Given the description of an element on the screen output the (x, y) to click on. 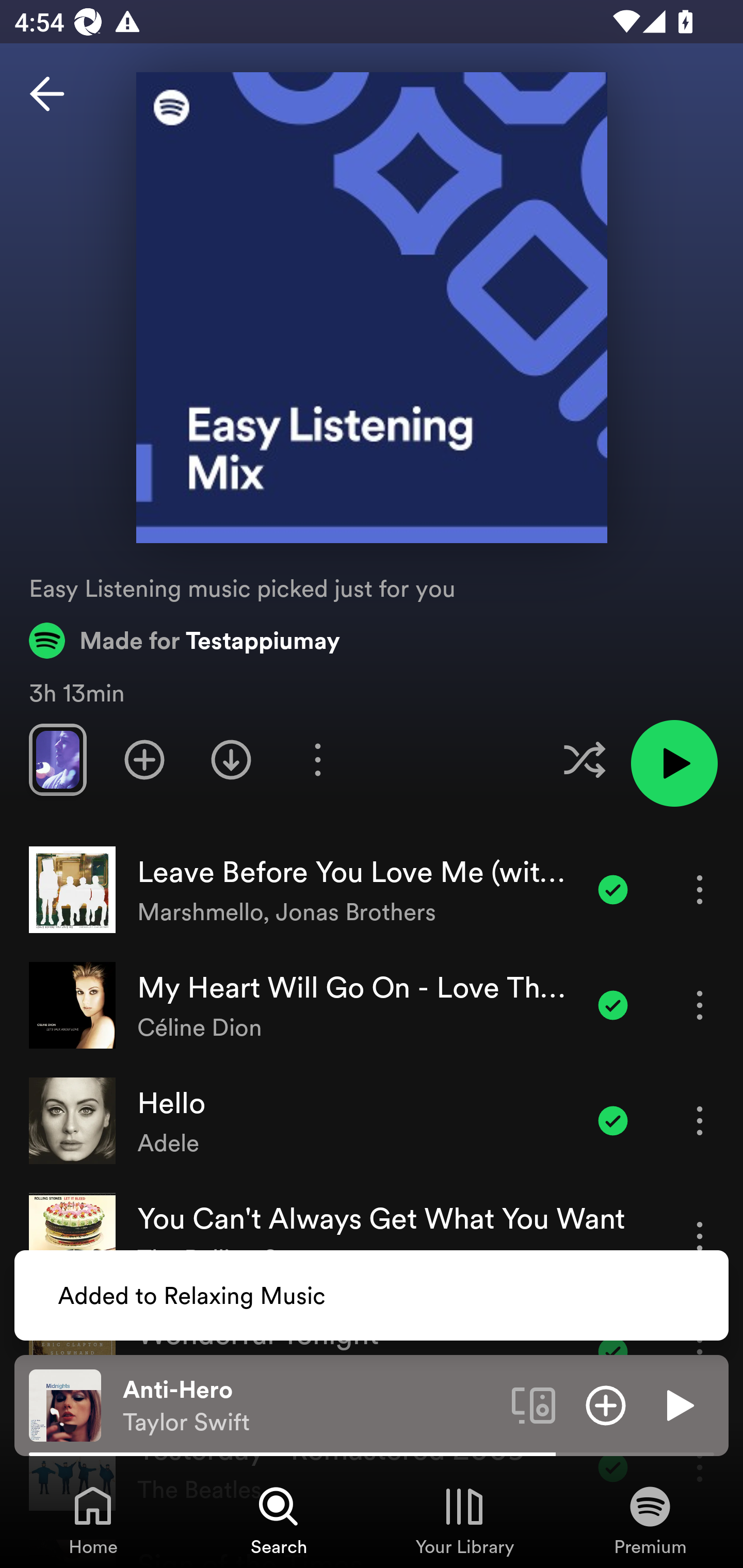
Back (46, 93)
Made for Testappiumay (184, 640)
Swipe through previews of tracks in this playlist. (57, 759)
Add playlist to Your Library (144, 759)
Download (230, 759)
More options for playlist Easy Listening Mix (317, 759)
Enable shuffle for this playlist (583, 759)
Play playlist (674, 763)
Item added (612, 889)
Item added (612, 1004)
Hello Adele Item added More options for song Hello (371, 1121)
Item added (612, 1120)
More options for song Hello (699, 1120)
Anti-Hero Taylor Swift (309, 1405)
The cover art of the currently playing track (64, 1404)
Connect to a device. Opens the devices menu (533, 1404)
Add item (605, 1404)
Play (677, 1404)
Home, Tab 1 of 4 Home Home (92, 1519)
Search, Tab 2 of 4 Search Search (278, 1519)
Your Library, Tab 3 of 4 Your Library Your Library (464, 1519)
Premium, Tab 4 of 4 Premium Premium (650, 1519)
